Given the description of an element on the screen output the (x, y) to click on. 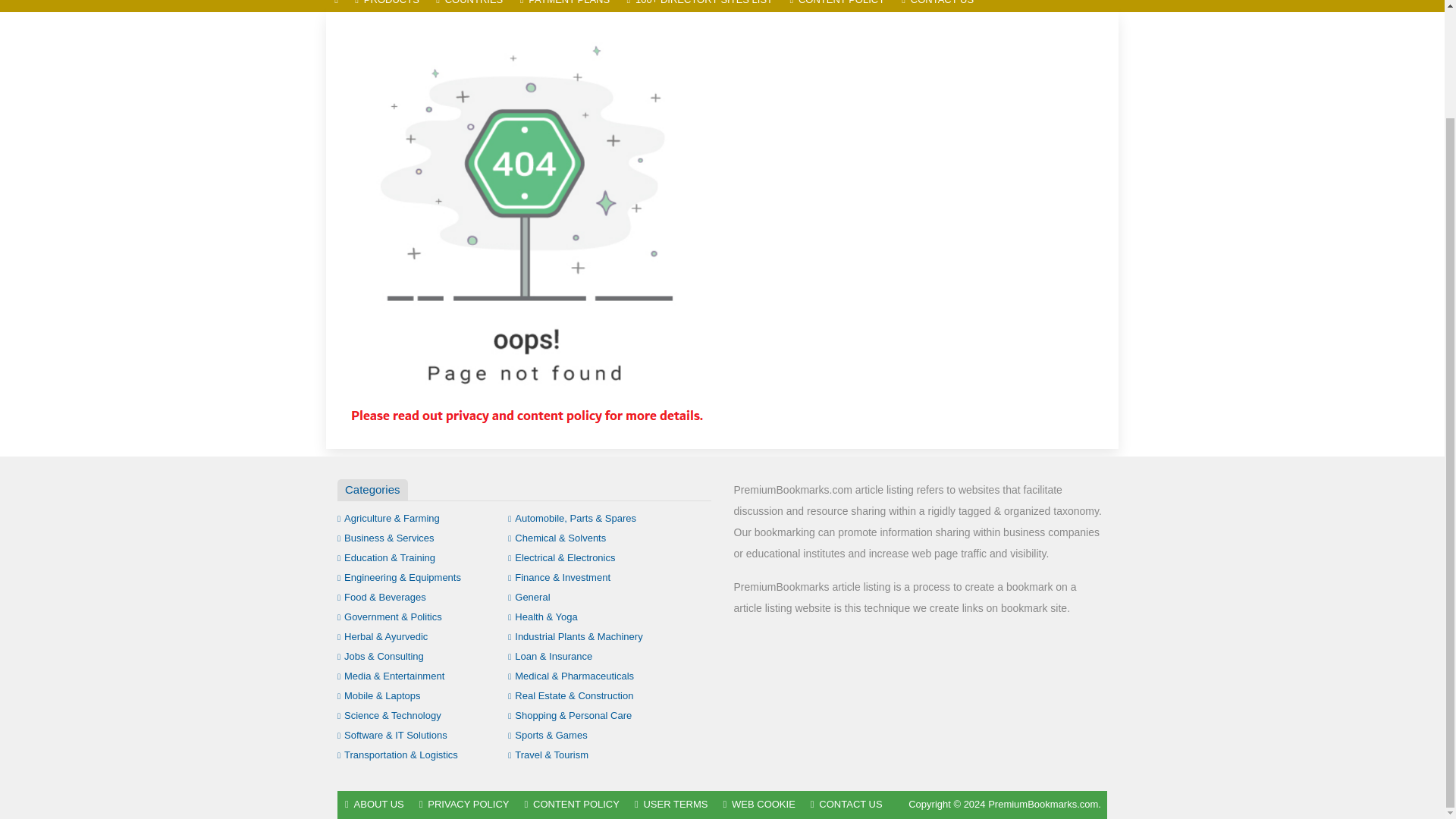
COUNTRIES (469, 6)
General (529, 596)
HOME (336, 6)
CONTENT POLICY (836, 6)
CONTACT US (937, 6)
PRODUCTS (387, 6)
PAYMENT PLANS (564, 6)
